Given the description of an element on the screen output the (x, y) to click on. 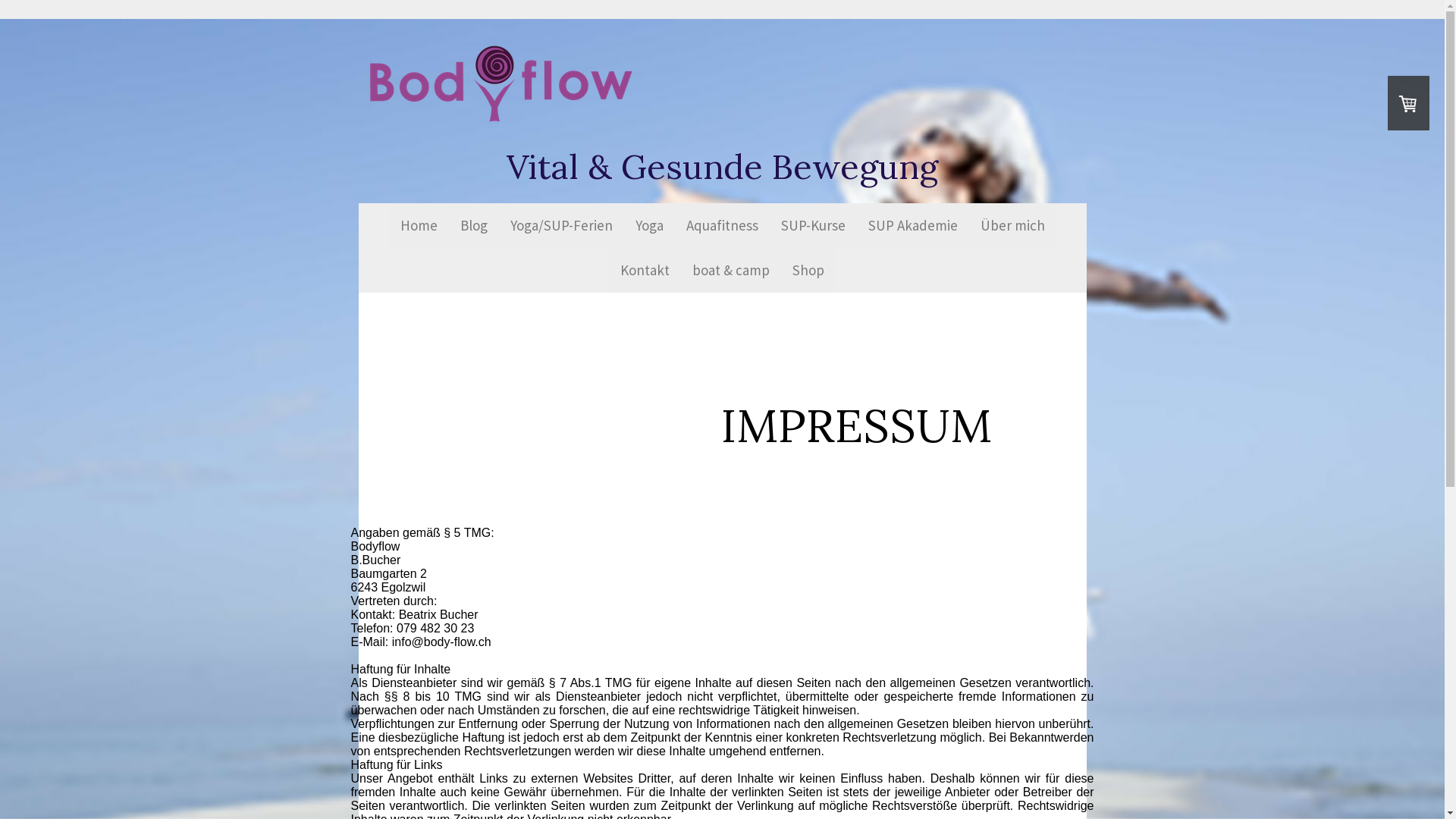
Vital & Gesunde Bewegung Element type: text (722, 166)
SUP Akademie Element type: text (912, 225)
Yoga/SUP-Ferien Element type: text (561, 225)
Blog Element type: text (473, 225)
boat & camp Element type: text (730, 269)
Shop Element type: text (808, 269)
SUP-Kurse Element type: text (812, 225)
Yoga Element type: text (648, 225)
Kontakt Element type: text (644, 269)
Aquafitness Element type: text (721, 225)
Home Element type: text (418, 225)
